Given the description of an element on the screen output the (x, y) to click on. 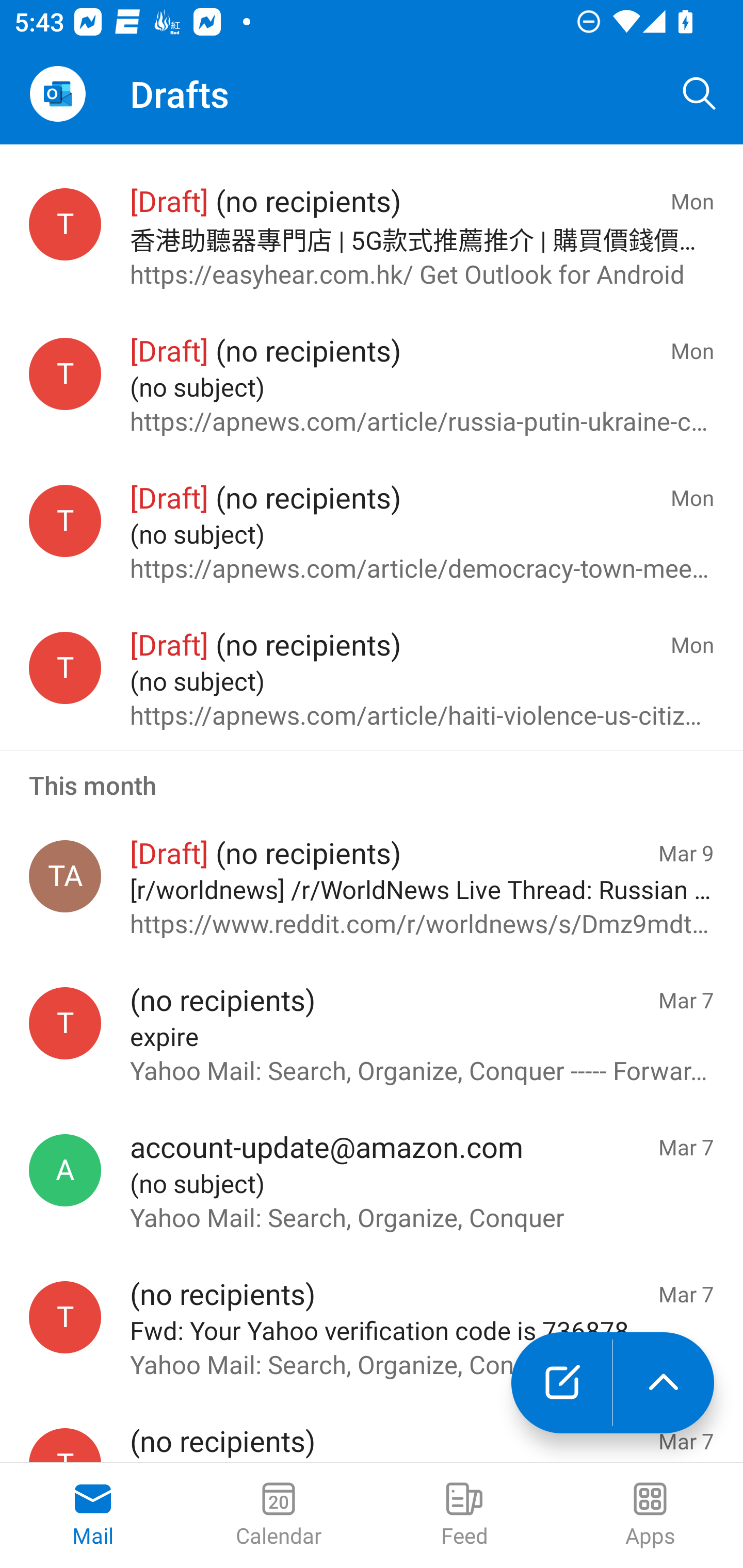
Search, ,  (699, 93)
Open Navigation Drawer (57, 94)
testappium002@outlook.com (64, 224)
testappium002@outlook.com (64, 373)
testappium002@outlook.com (64, 520)
testappium002@outlook.com (64, 667)
Test Appium, testappium002@outlook.com (64, 876)
testappium002@outlook.com (64, 1023)
testappium002@outlook.com (64, 1317)
New mail (561, 1382)
launch the extended action menu (663, 1382)
Calendar (278, 1515)
Feed (464, 1515)
Apps (650, 1515)
